Given the description of an element on the screen output the (x, y) to click on. 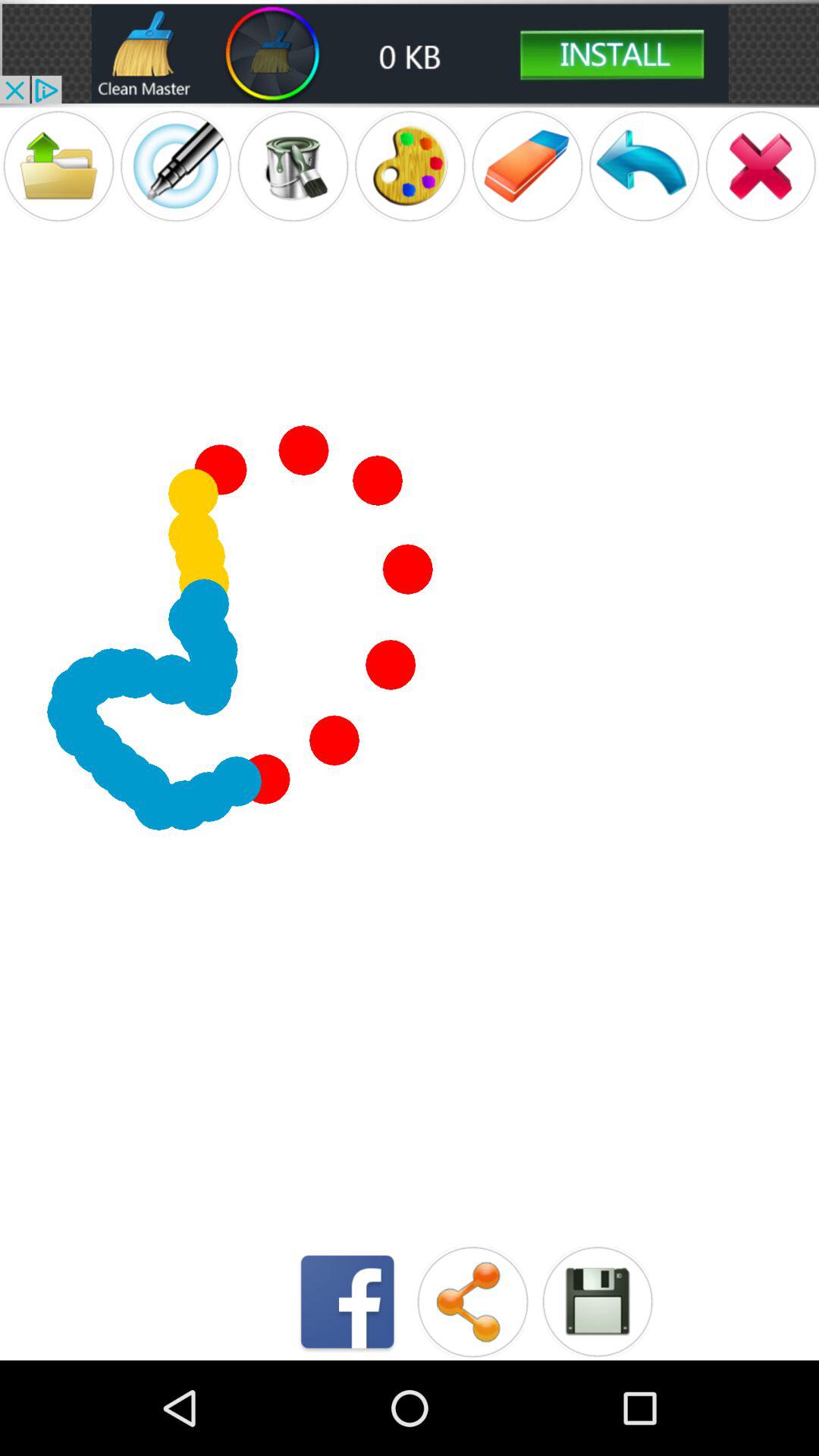
pencil to paint (175, 165)
